Given the description of an element on the screen output the (x, y) to click on. 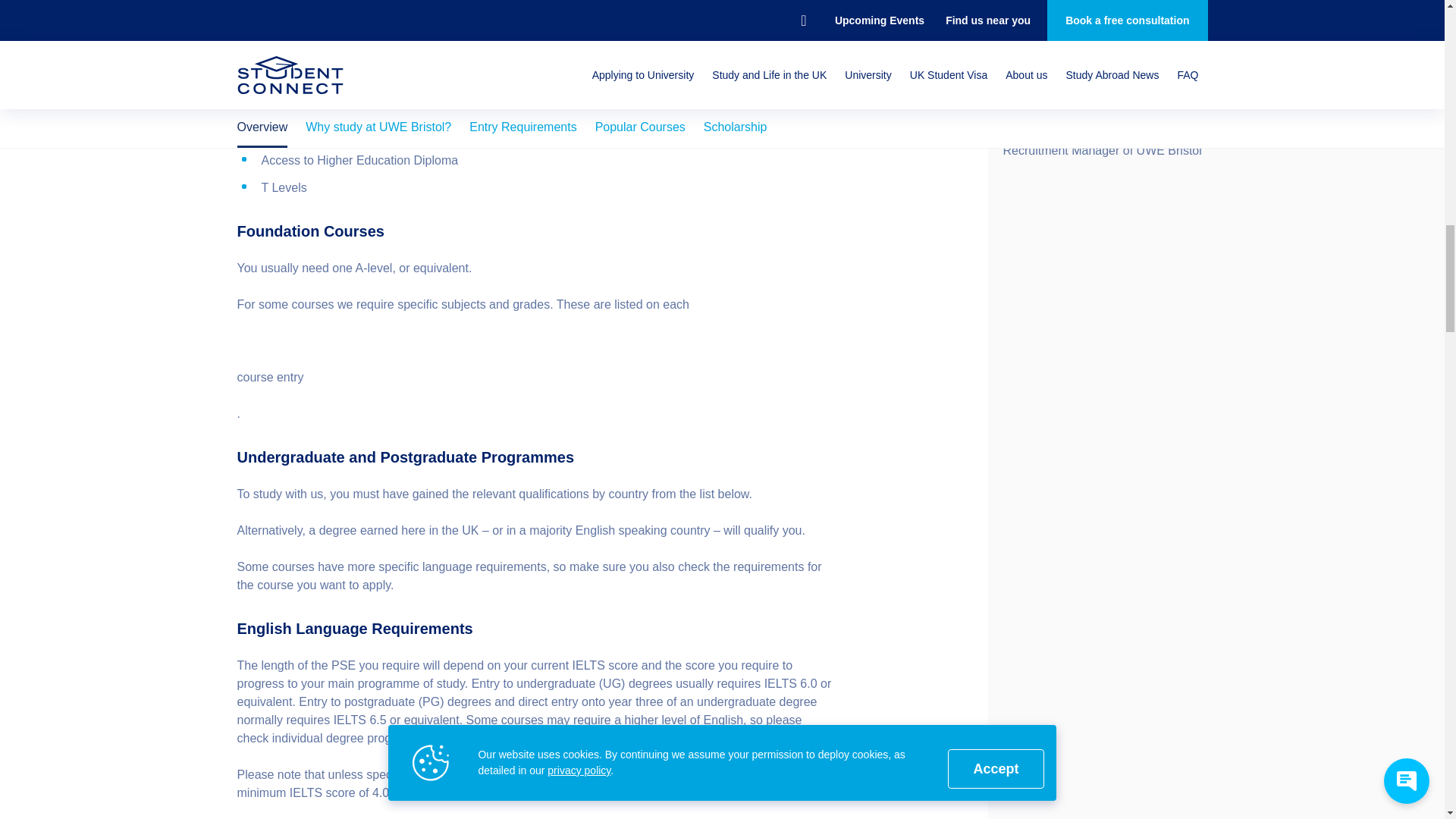
YouTube video player (1105, 58)
